Given the description of an element on the screen output the (x, y) to click on. 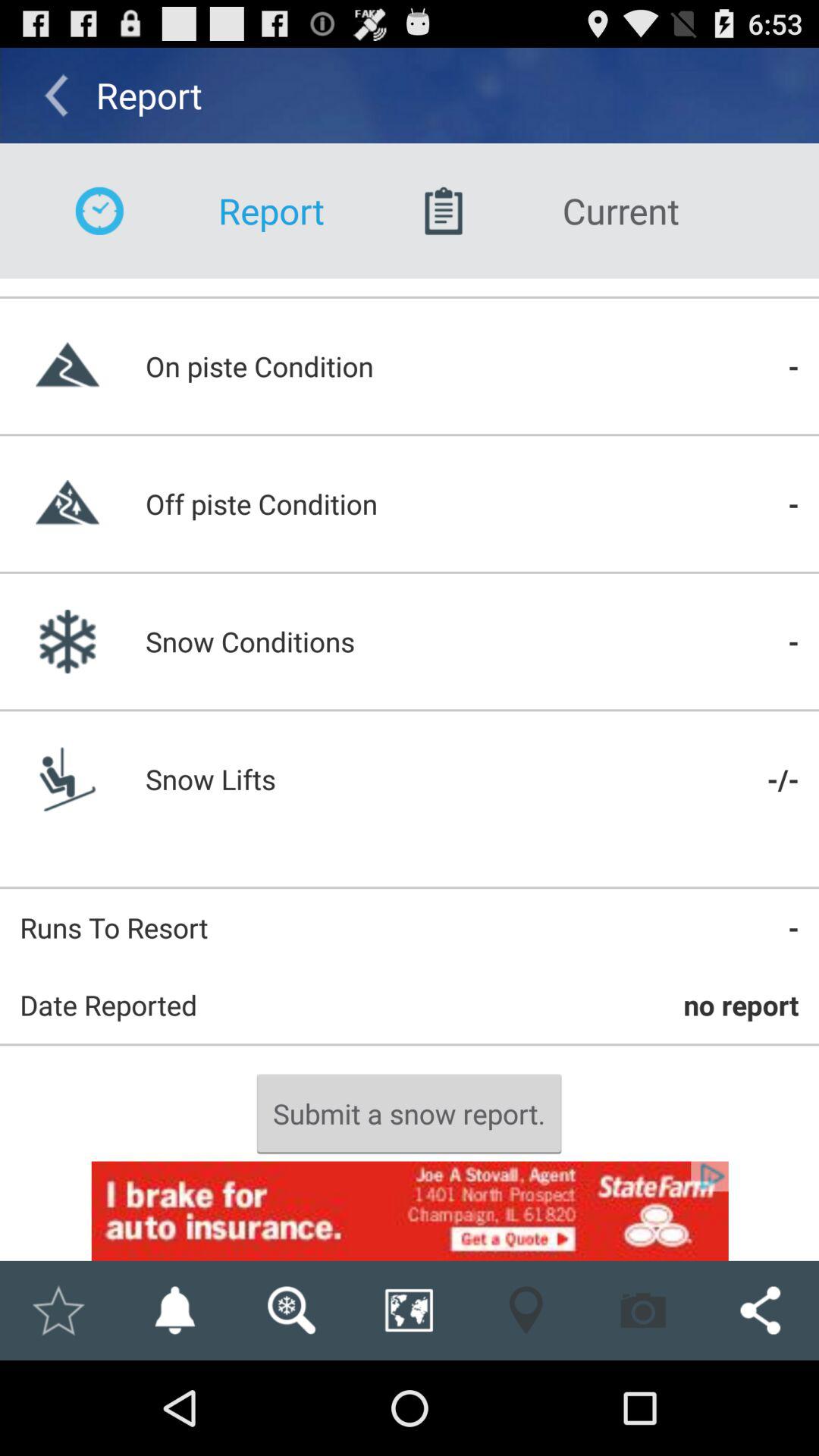
share content (760, 1310)
